Given the description of an element on the screen output the (x, y) to click on. 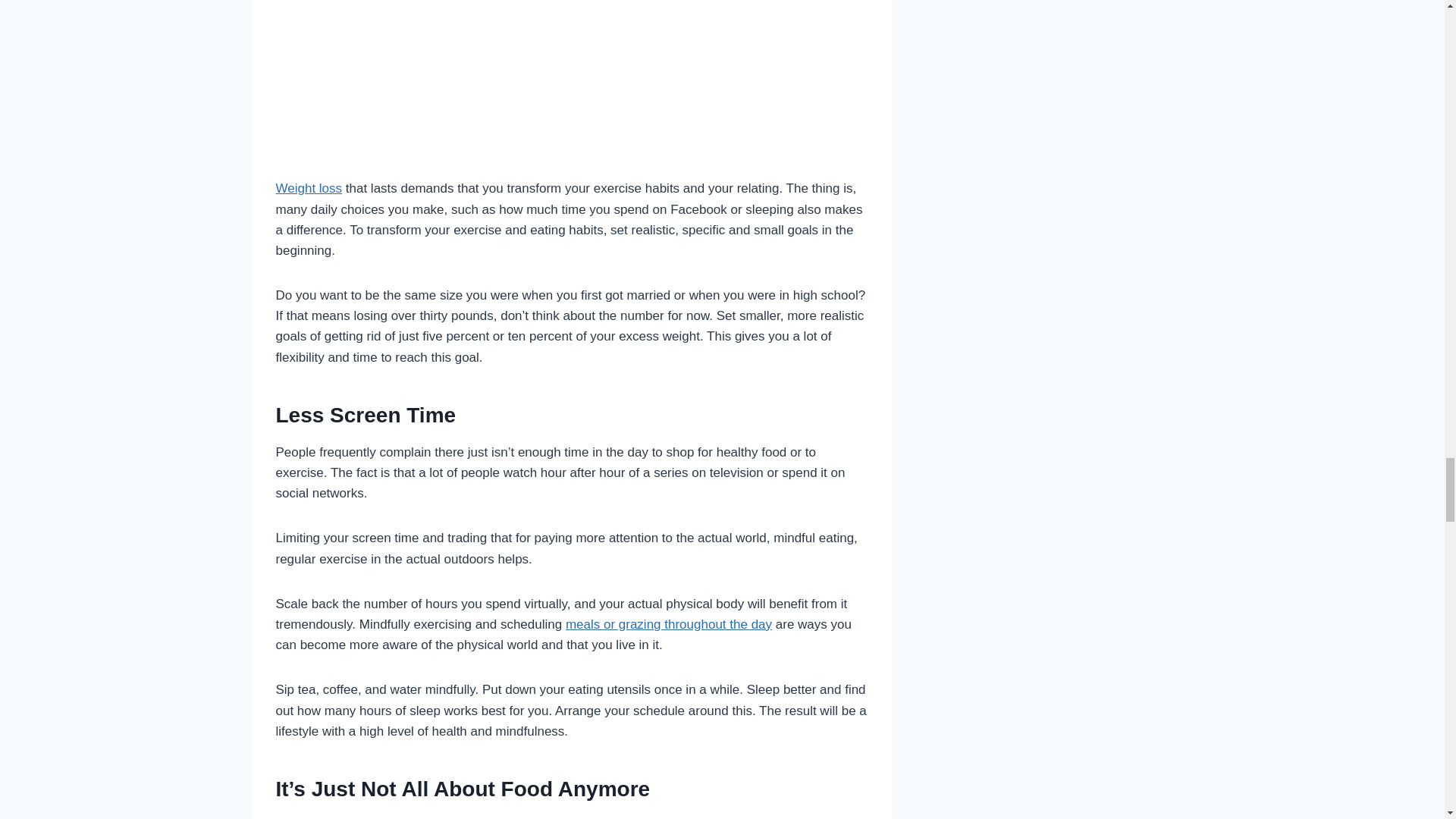
Why Is it Hard To Maintain Weight Loss? 5 (571, 76)
